Given the description of an element on the screen output the (x, y) to click on. 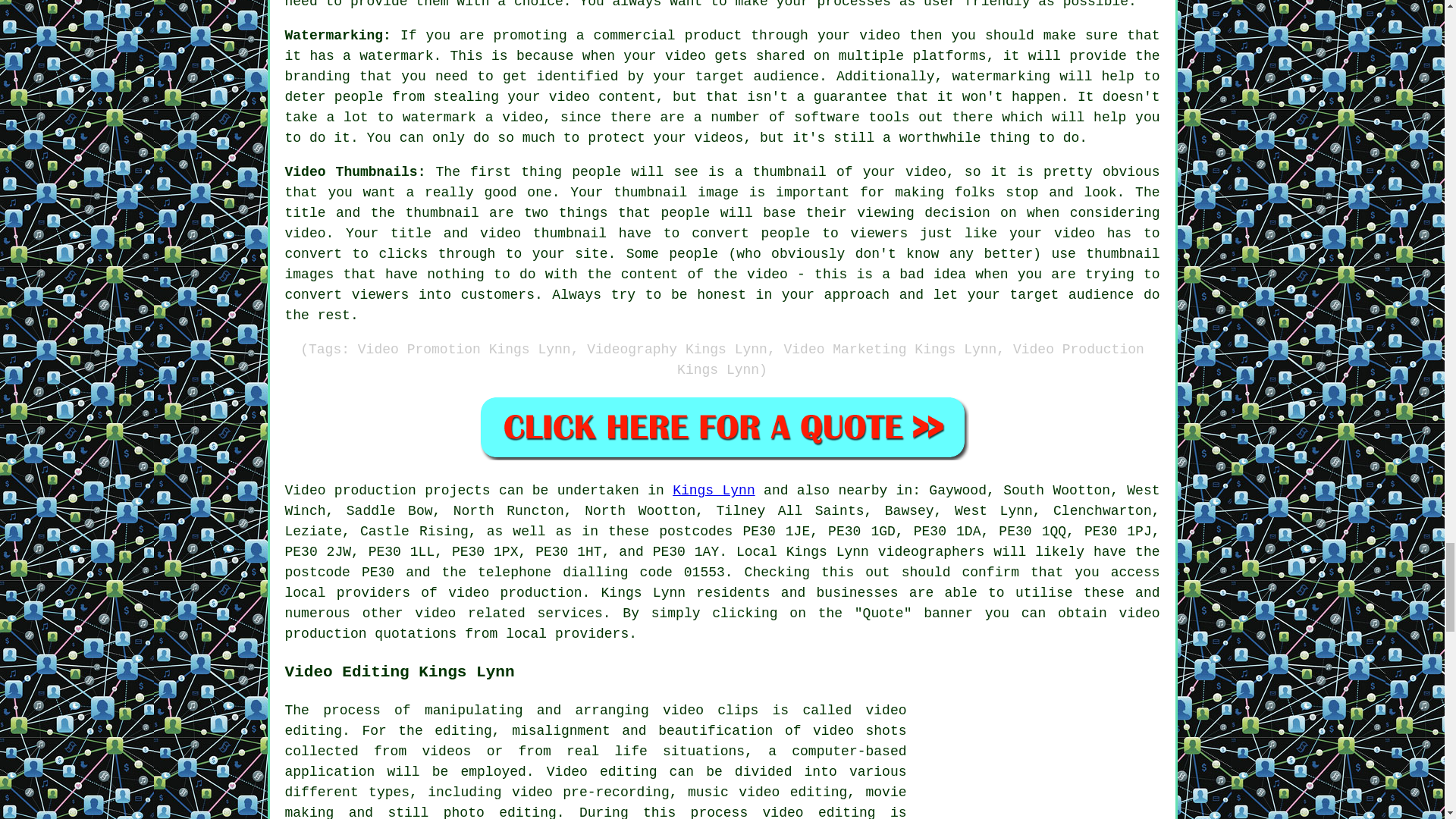
Video production (350, 490)
videographers (930, 551)
Book Video Production in Kings Lynn UK (722, 426)
video production (722, 623)
